Given the description of an element on the screen output the (x, y) to click on. 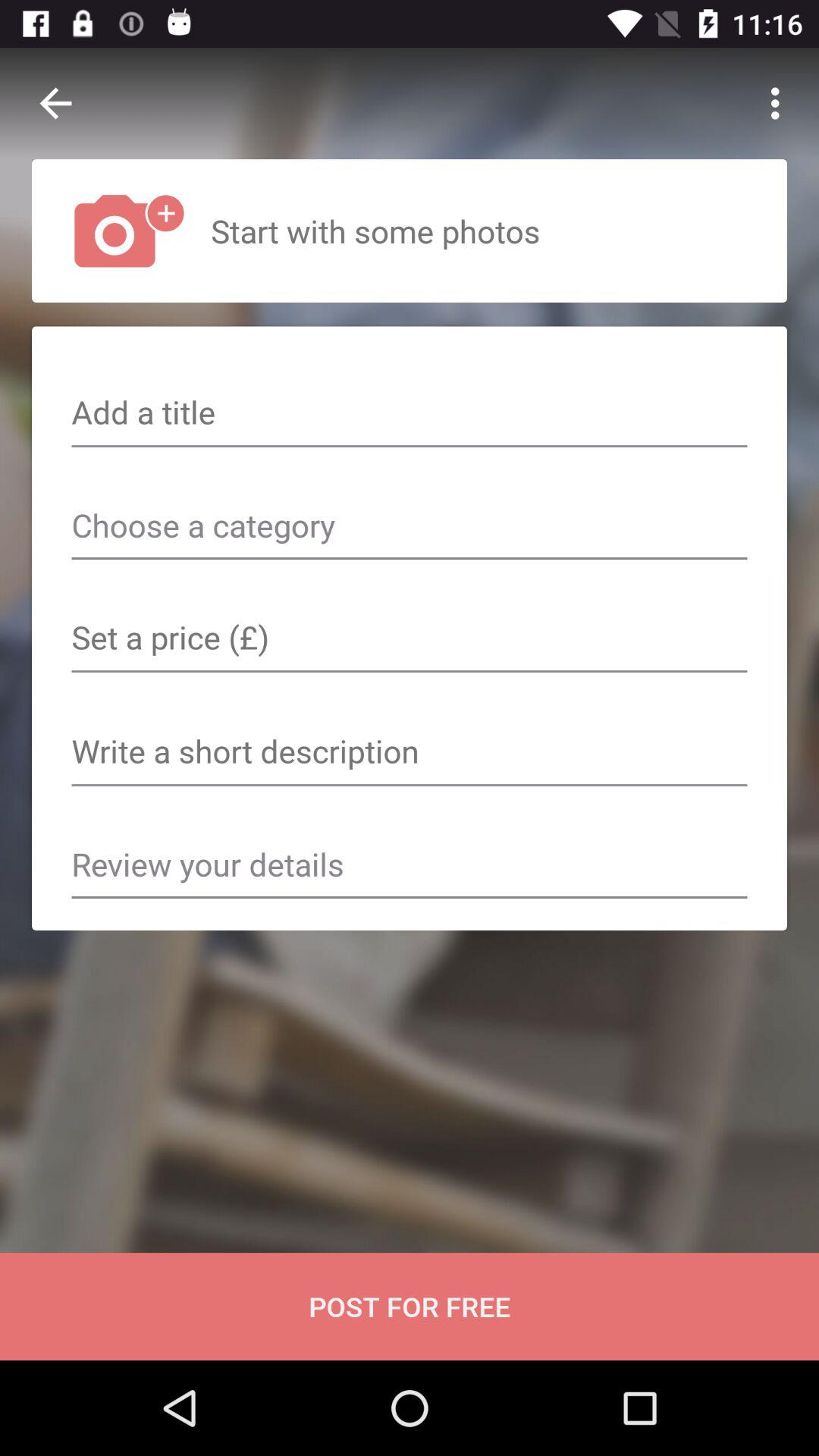
tap the post for free (409, 1306)
